Given the description of an element on the screen output the (x, y) to click on. 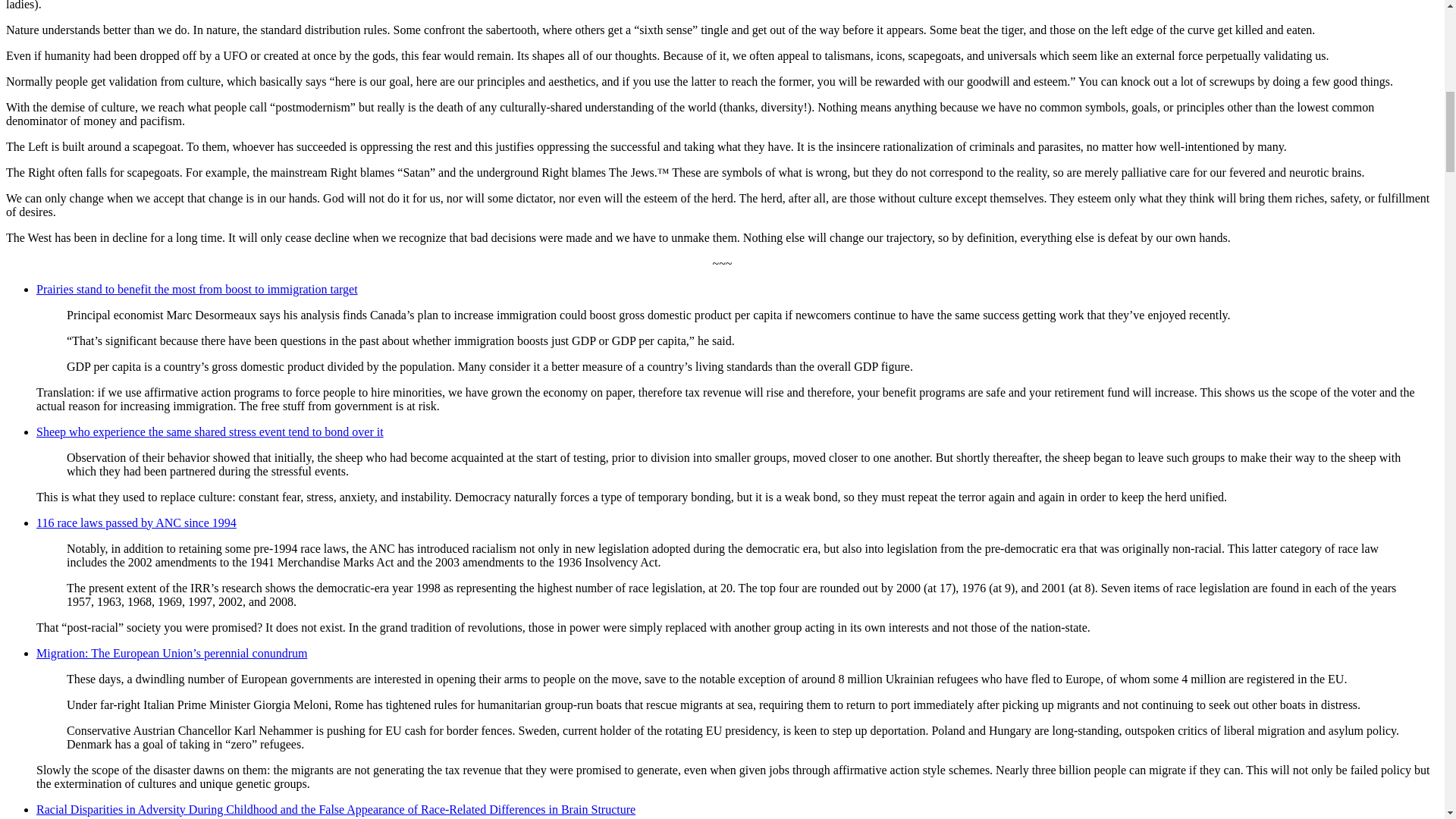
116 race laws passed by ANC since 1994 (135, 522)
